Given the description of an element on the screen output the (x, y) to click on. 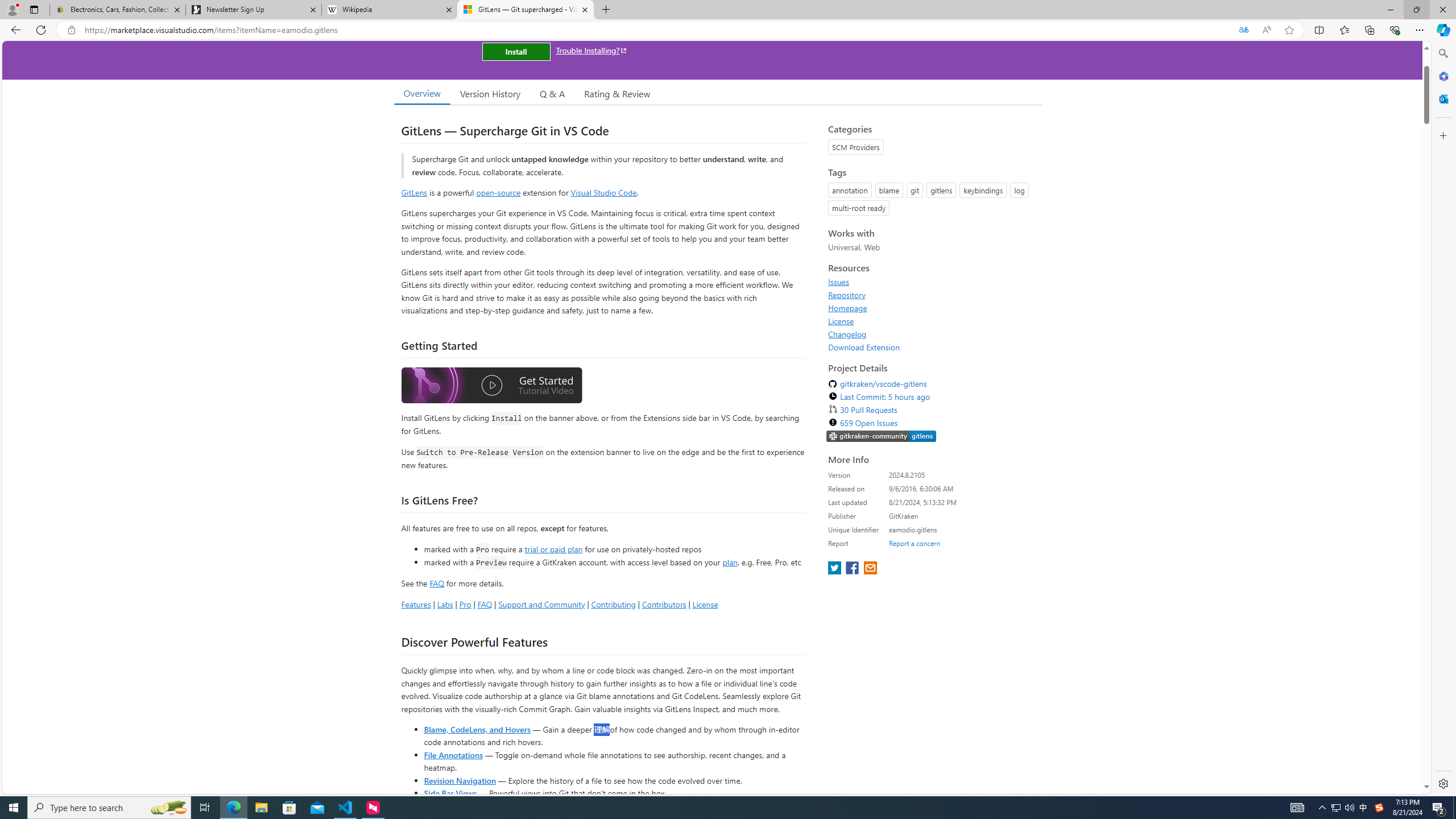
Translated (1243, 29)
Report a concern (914, 542)
Newsletter Sign Up (253, 9)
trial or paid plan (553, 548)
Download Extension (931, 346)
Version History (489, 92)
